Given the description of an element on the screen output the (x, y) to click on. 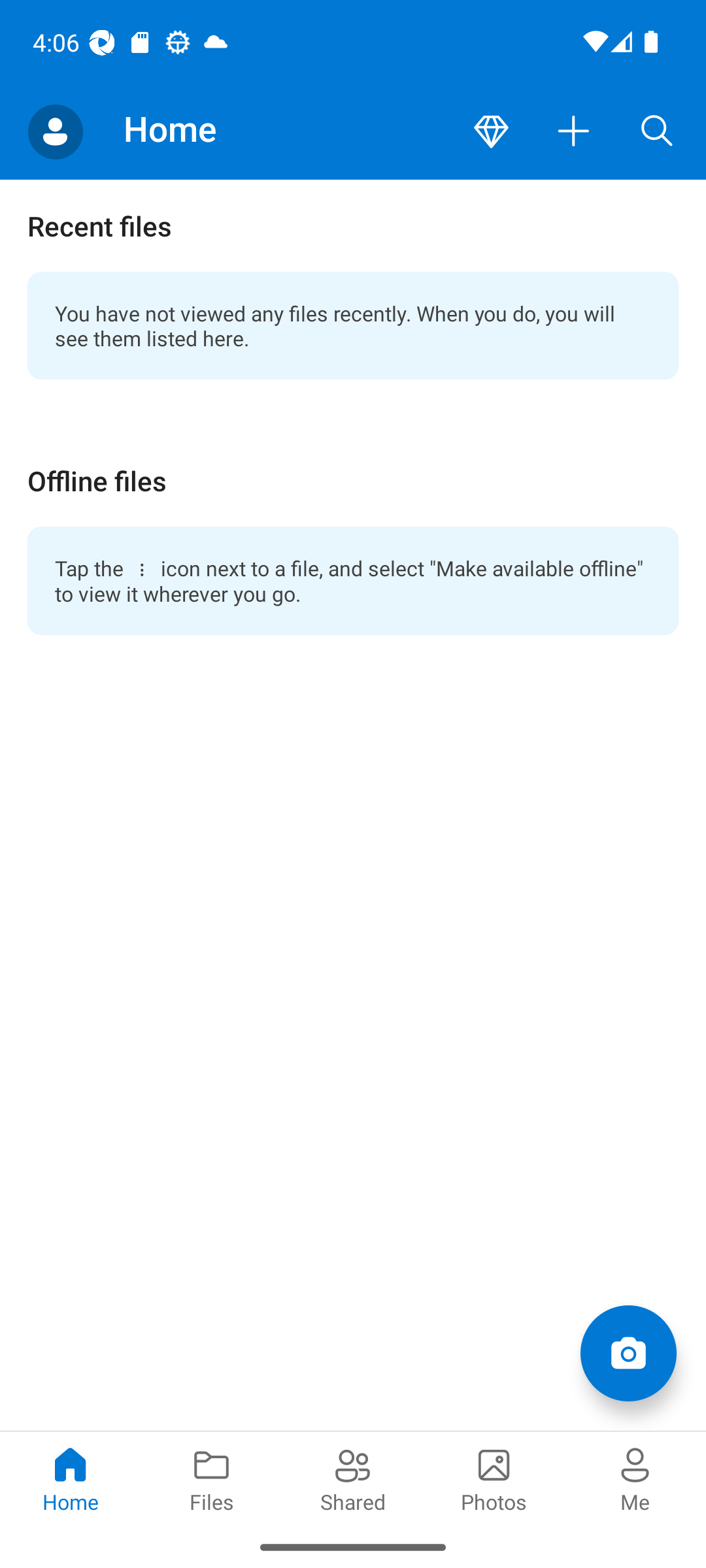
Account switcher (55, 131)
Premium button (491, 131)
More actions button (574, 131)
Search button (656, 131)
Scan (628, 1352)
Files pivot Files (211, 1478)
Shared pivot Shared (352, 1478)
Photos pivot Photos (493, 1478)
Me pivot Me (635, 1478)
